Given the description of an element on the screen output the (x, y) to click on. 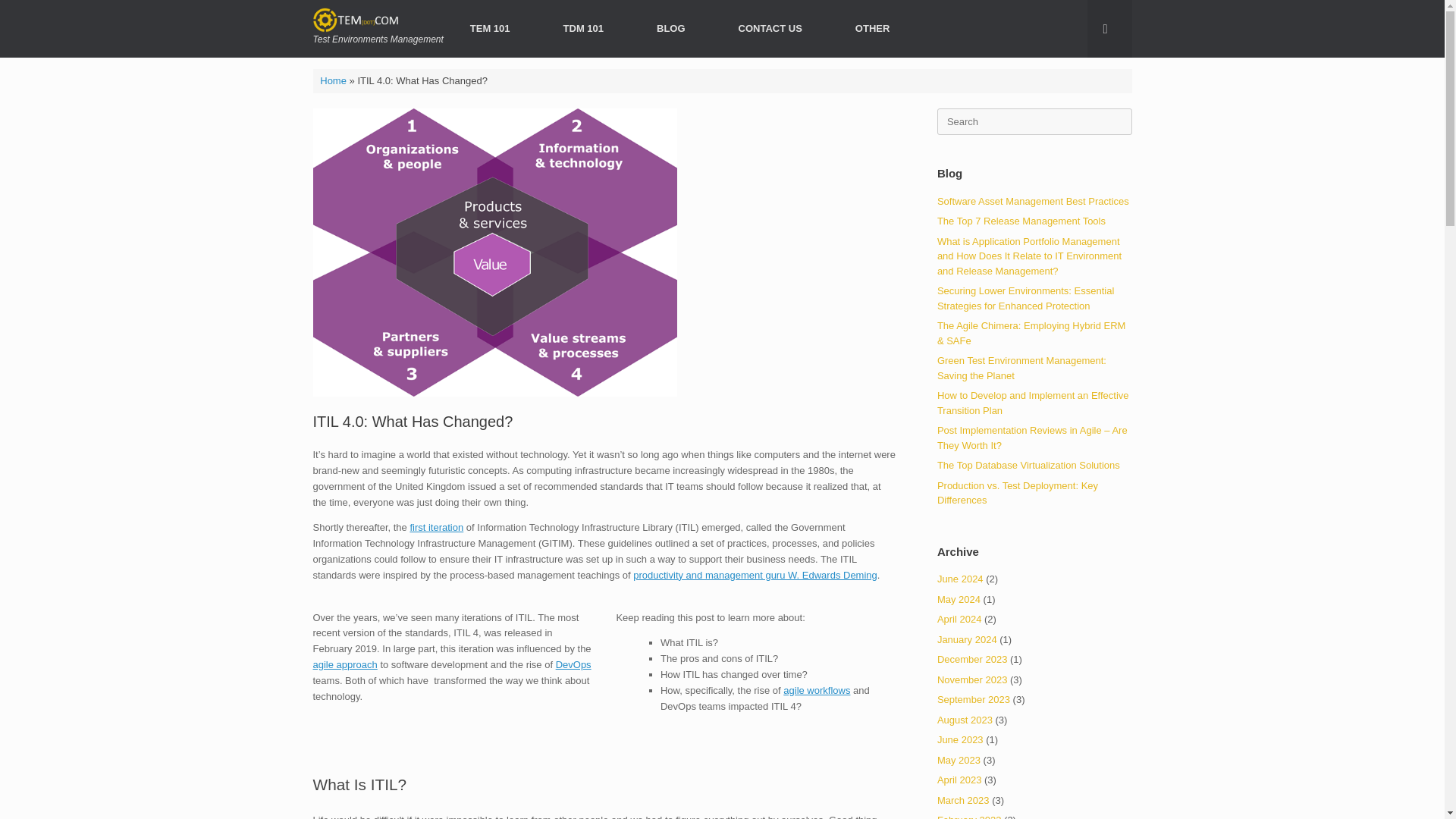
first iteration (436, 527)
productivity and management guru W. Edwards Deming (755, 574)
OTHER (872, 28)
TDM 101 (583, 28)
TEM 101 (490, 28)
CONTACT US (769, 28)
DevOps (573, 664)
agile workflows (816, 690)
BLOG (670, 28)
agile approach (345, 664)
